Given the description of an element on the screen output the (x, y) to click on. 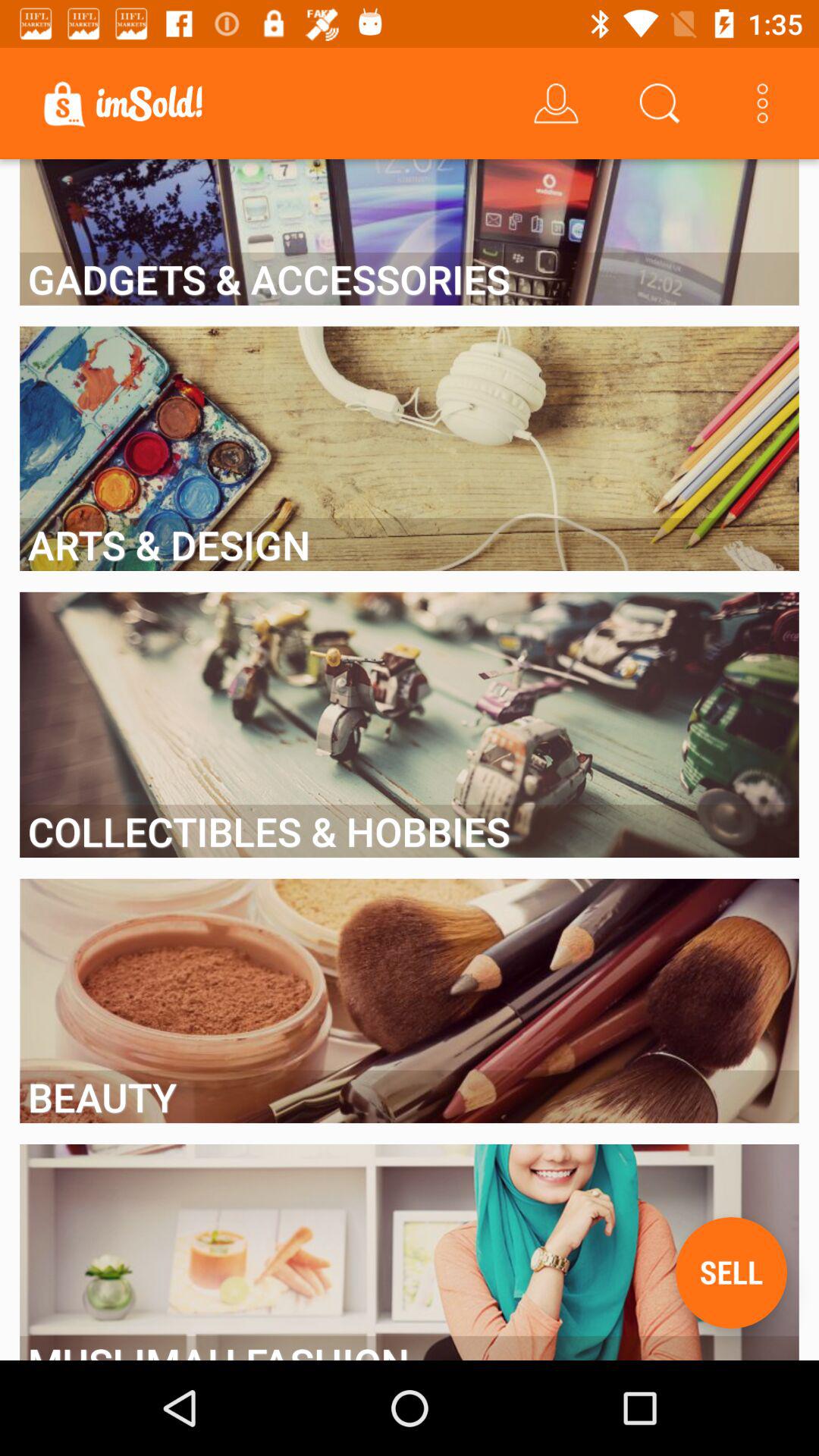
select sell option (731, 1272)
